Given the description of an element on the screen output the (x, y) to click on. 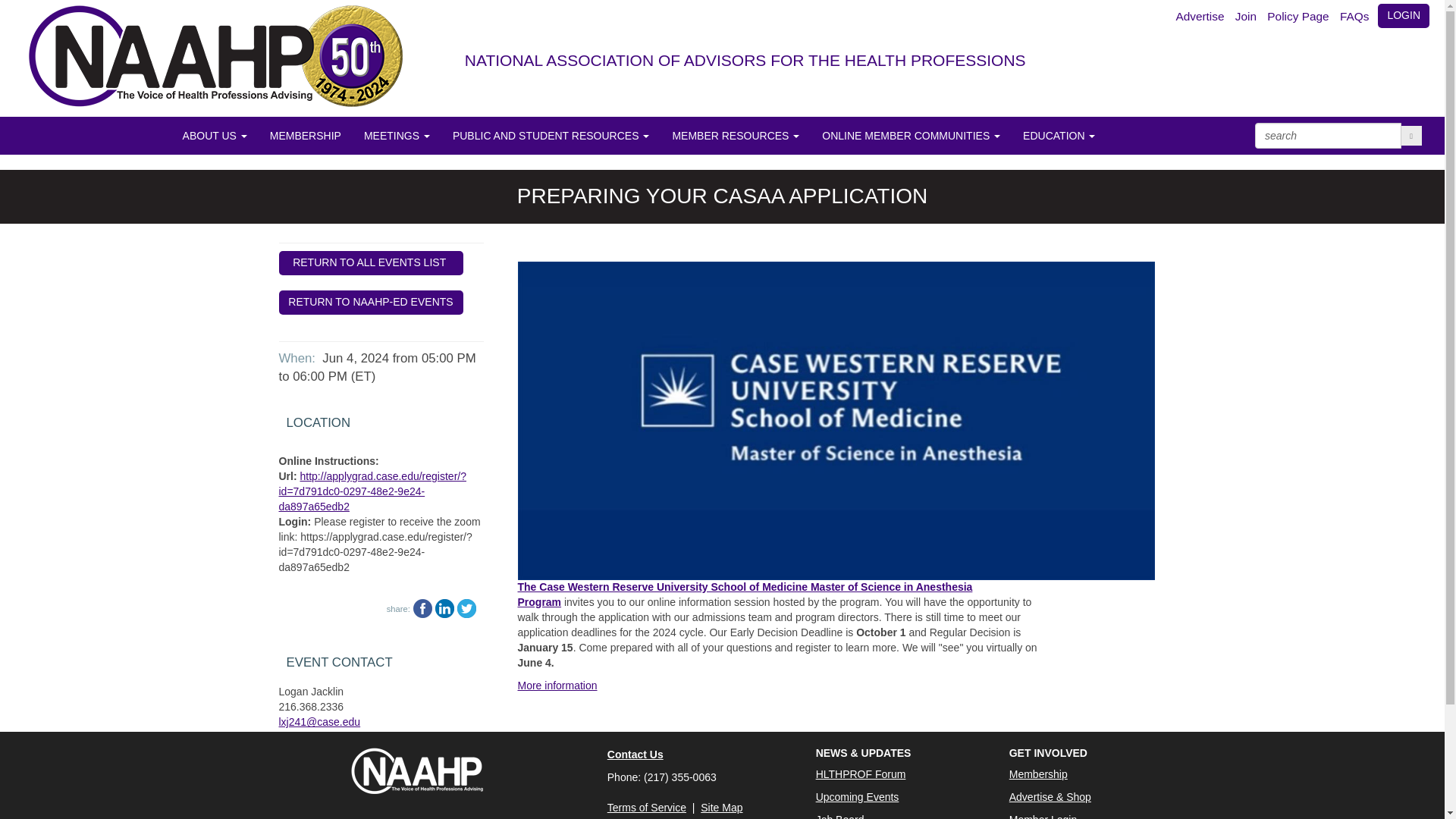
Advertise (1200, 16)
Share on LinkedIn (444, 608)
Share on Twitter (466, 608)
LOGIN (1403, 15)
Twitter Share (466, 607)
FAQs (1356, 16)
Policy Page (1299, 16)
ABOUT US (215, 135)
PUBLIC AND STUDENT RESOURCES (551, 135)
MEETINGS (396, 135)
search (1327, 135)
LinkedIn Share (444, 607)
More information (556, 685)
Facebook Share (422, 607)
Share on Facebook (422, 608)
